Given the description of an element on the screen output the (x, y) to click on. 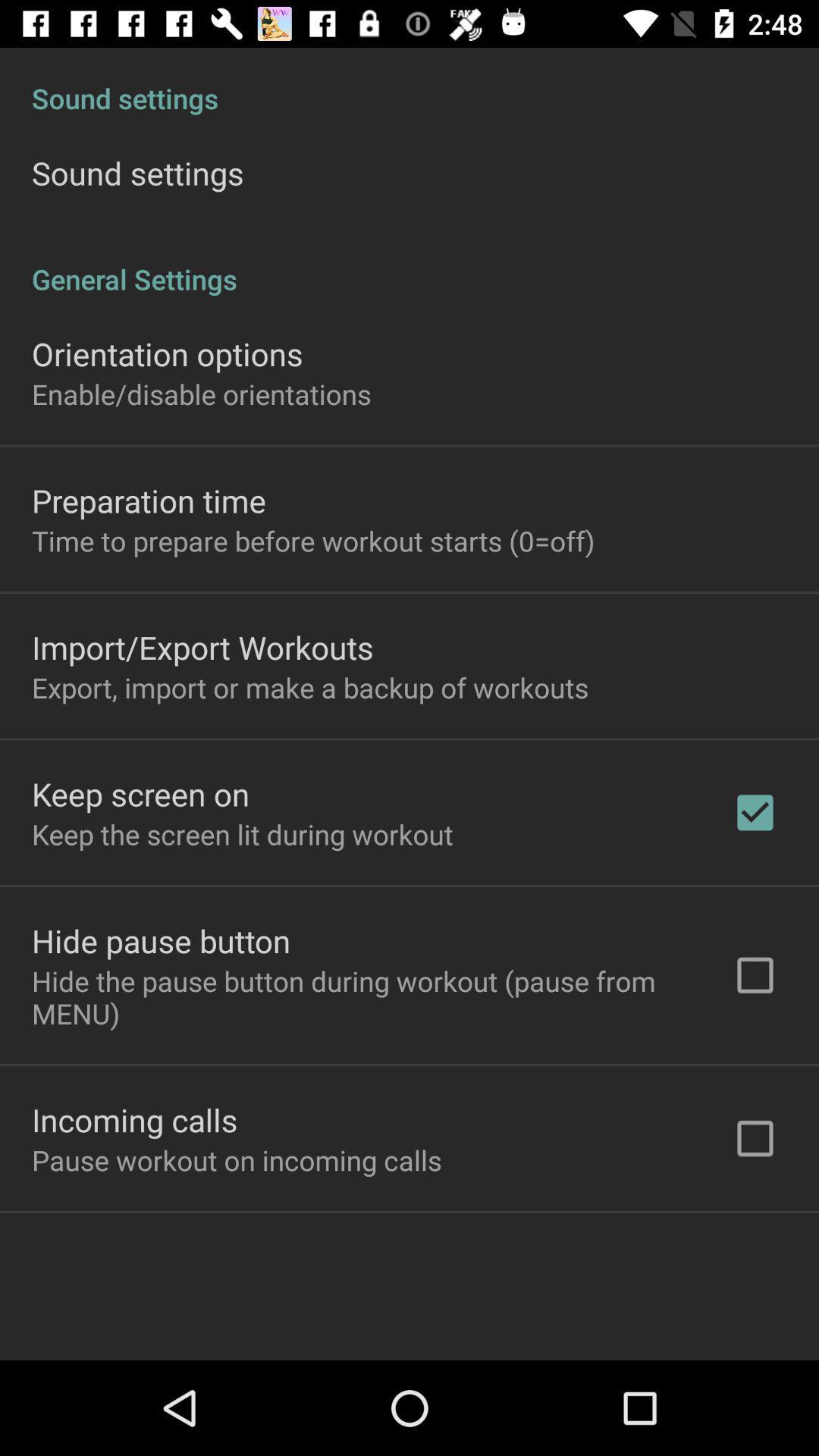
scroll until enable/disable orientations icon (201, 393)
